Given the description of an element on the screen output the (x, y) to click on. 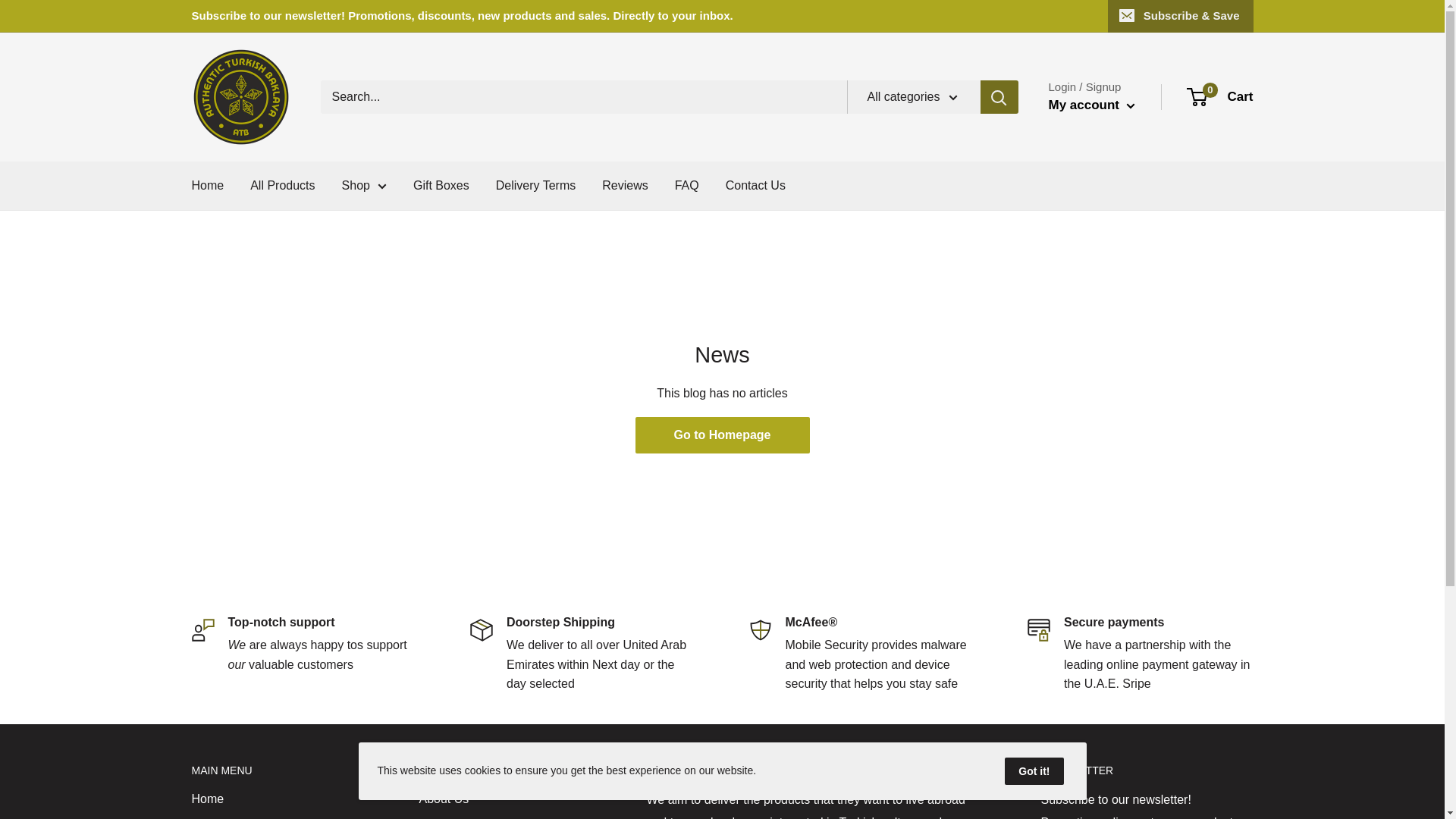
My account (1091, 105)
Authentic Turkish Baklava (239, 96)
